Given the description of an element on the screen output the (x, y) to click on. 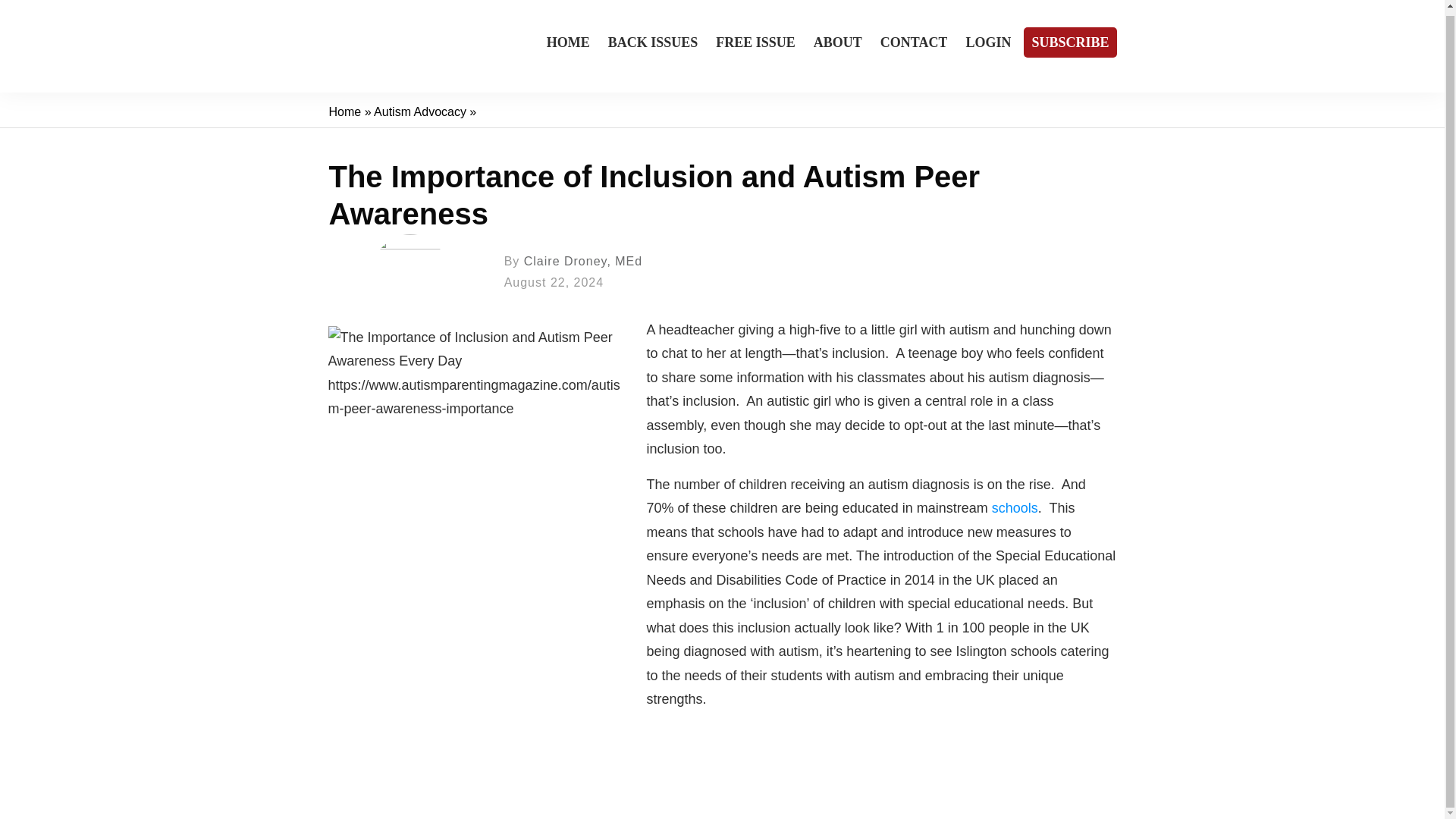
Claire Droney, MEd (583, 260)
FREE ISSUE (755, 42)
schools (1014, 507)
BACK ISSUES (653, 42)
Claire Droney, MEd (583, 260)
SUBSCRIBE (1069, 42)
schools (1014, 507)
ABOUT (837, 42)
LOGIN (987, 42)
Autism Advocacy (419, 111)
